Given the description of an element on the screen output the (x, y) to click on. 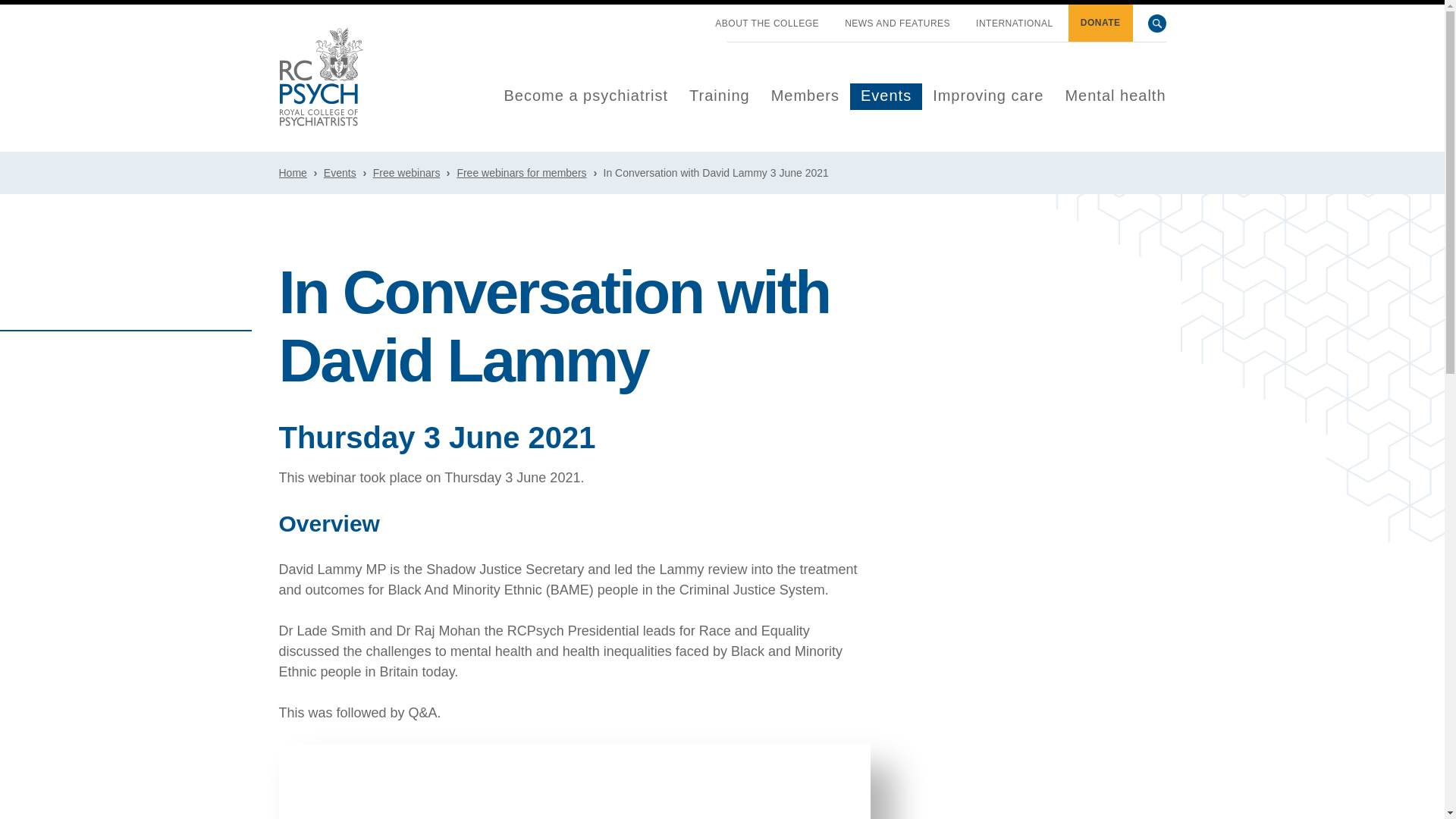
SKIP NAVIGATION (689, 17)
Search (1157, 23)
DONATE (1100, 22)
ABOUT THE COLLEGE (766, 23)
NEWS AND FEATURES (897, 23)
Become a psychiatrist (585, 96)
INTERNATIONAL (1014, 23)
